Given the description of an element on the screen output the (x, y) to click on. 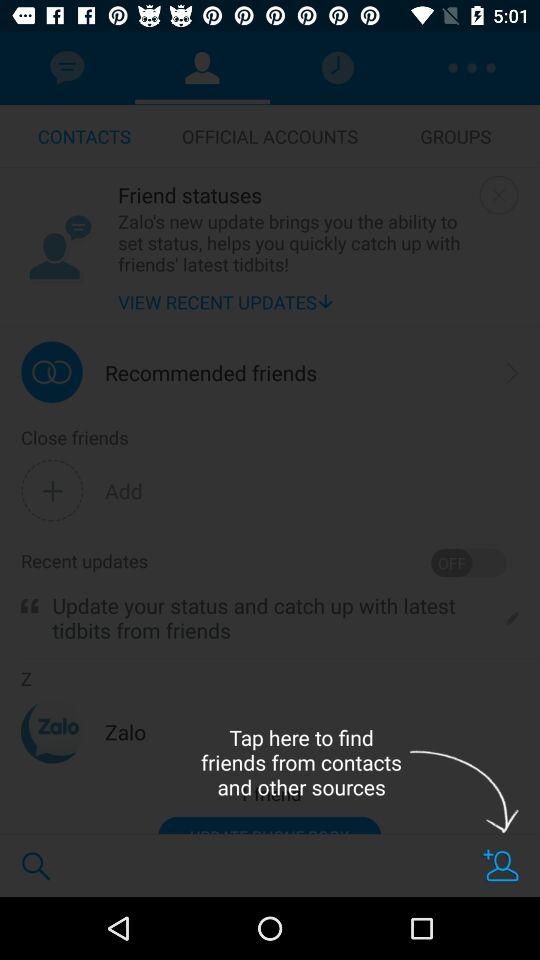
jump to friend statuses icon (294, 194)
